Given the description of an element on the screen output the (x, y) to click on. 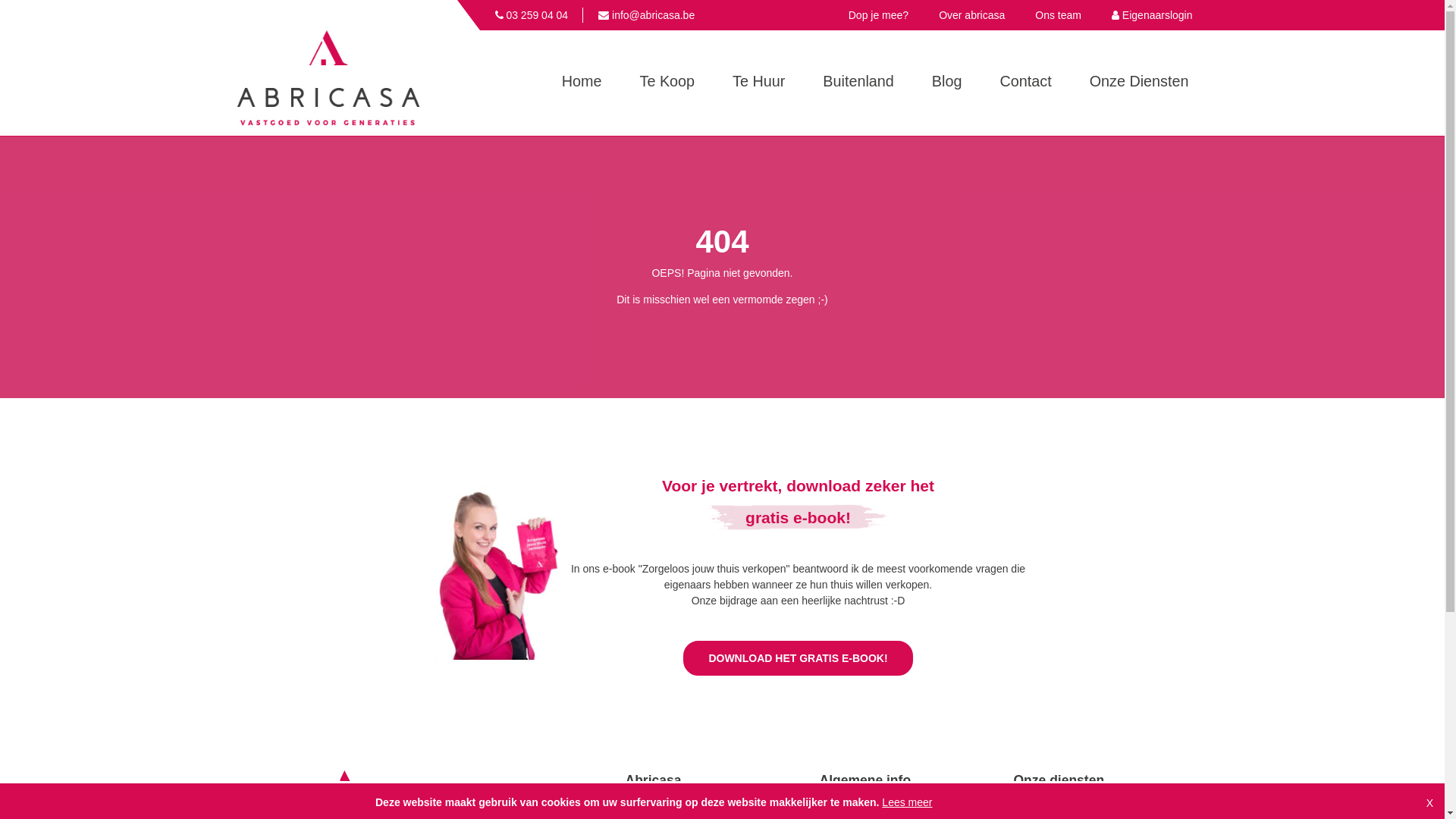
Over abricasa Element type: text (971, 15)
Te Huur Element type: text (758, 82)
info@abricasa.be Element type: text (646, 15)
Te koop Element type: text (1031, 797)
Lees meer Element type: text (906, 802)
Eigenaarslogin Element type: text (1152, 15)
Dop je mee? Element type: text (878, 15)
Home Element type: text (581, 82)
Contact Element type: text (837, 797)
DOWNLOAD HET GRATIS E-BOOK! Element type: text (797, 657)
Te Koop Element type: text (666, 82)
Contact Element type: text (1025, 82)
Ons team Element type: text (1057, 15)
03 259 04 04 Element type: text (531, 15)
Buitenland Element type: text (858, 82)
Blog Element type: text (947, 82)
Onze Diensten Element type: text (1139, 82)
